Given the description of an element on the screen output the (x, y) to click on. 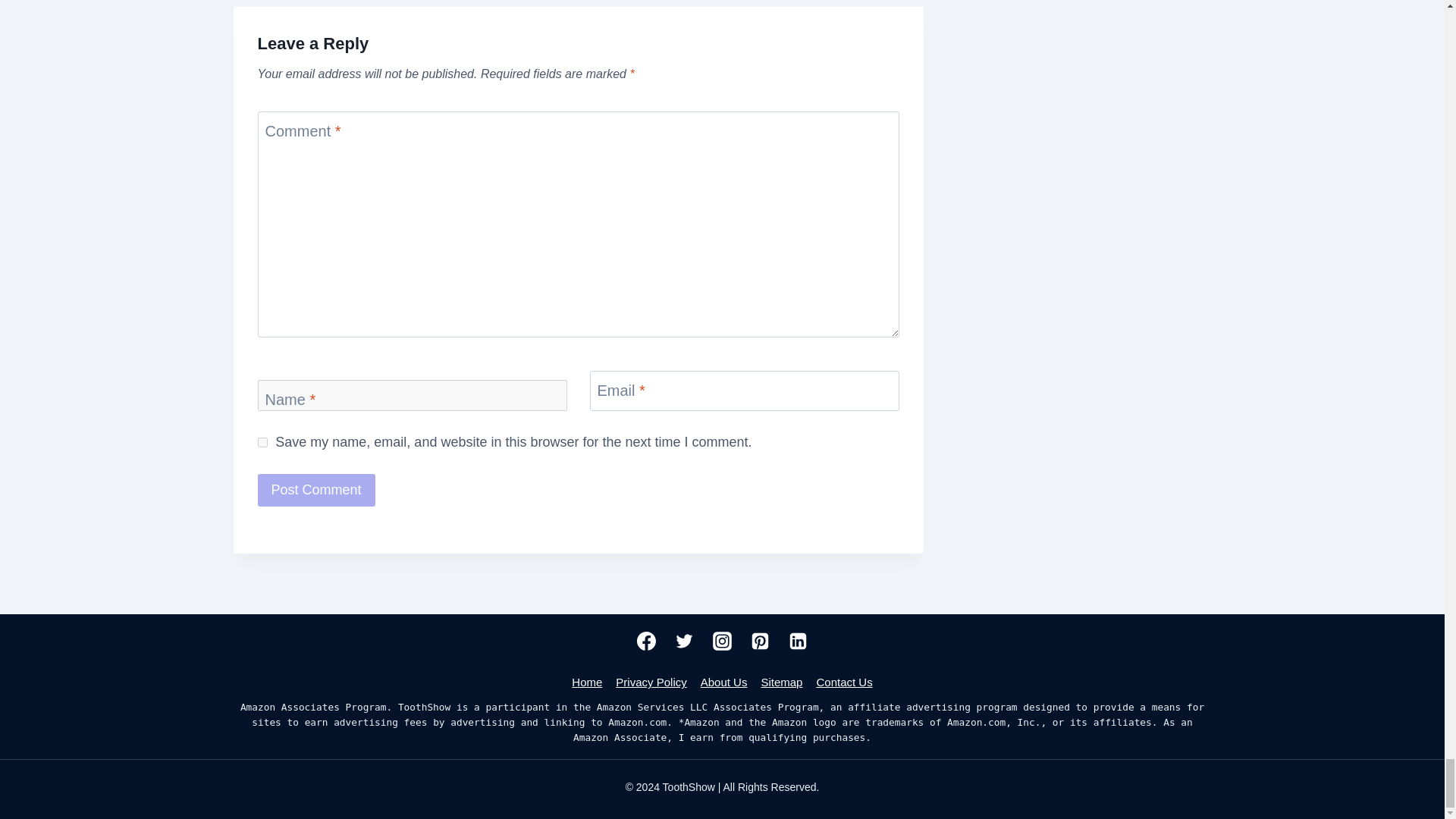
Post Comment (316, 490)
yes (262, 442)
